Given the description of an element on the screen output the (x, y) to click on. 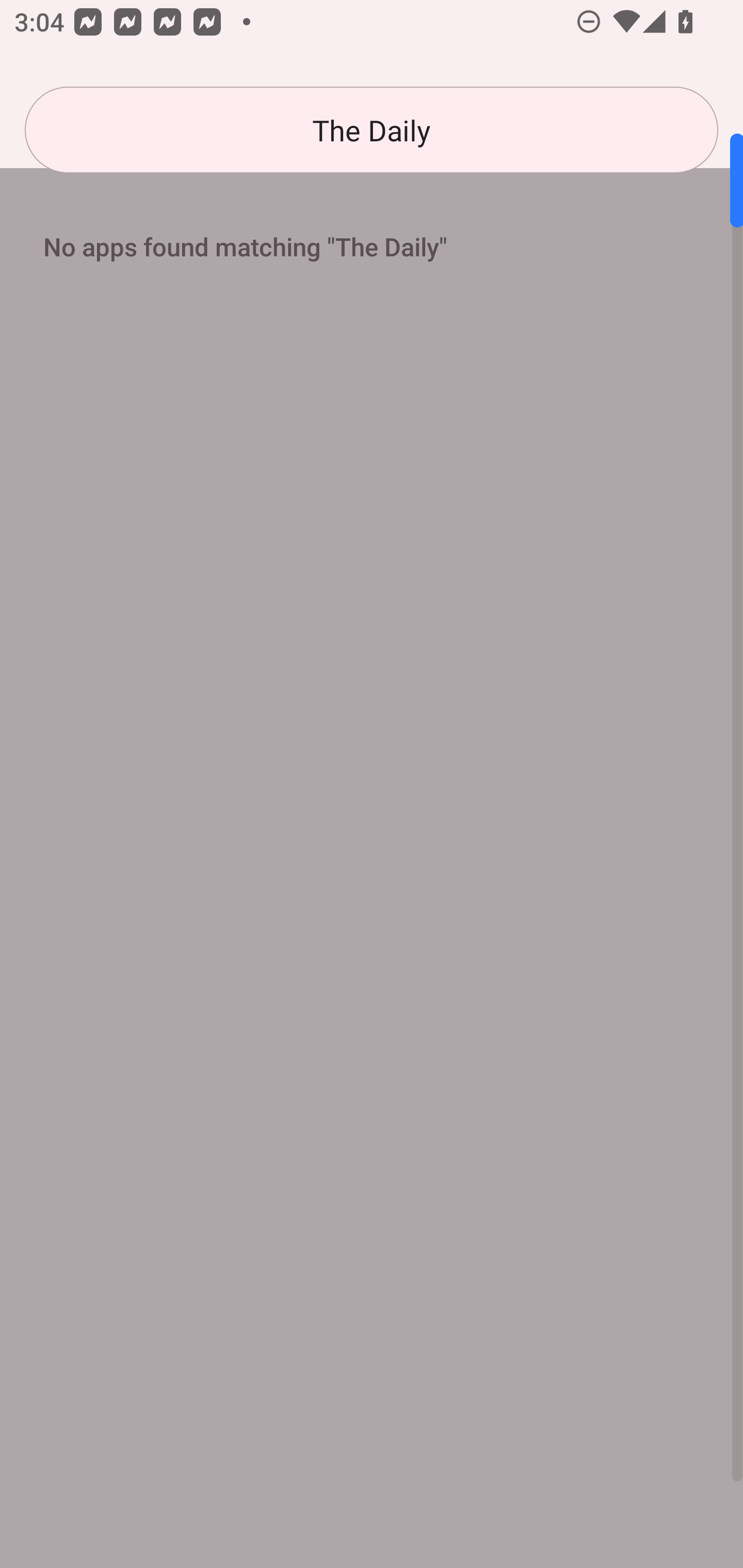
The Daily (371, 130)
